Given the description of an element on the screen output the (x, y) to click on. 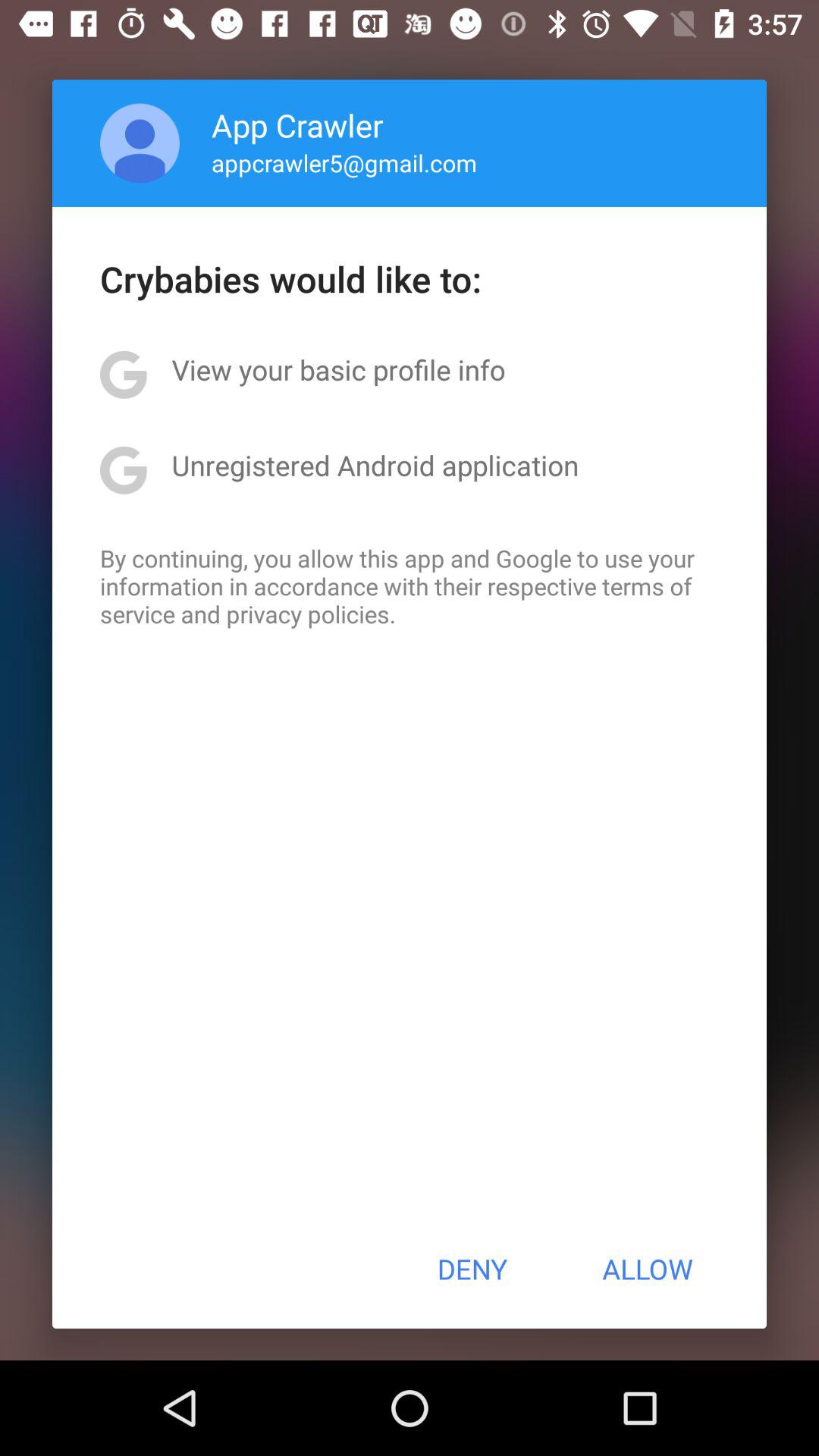
launch the app above crybabies would like item (344, 162)
